Given the description of an element on the screen output the (x, y) to click on. 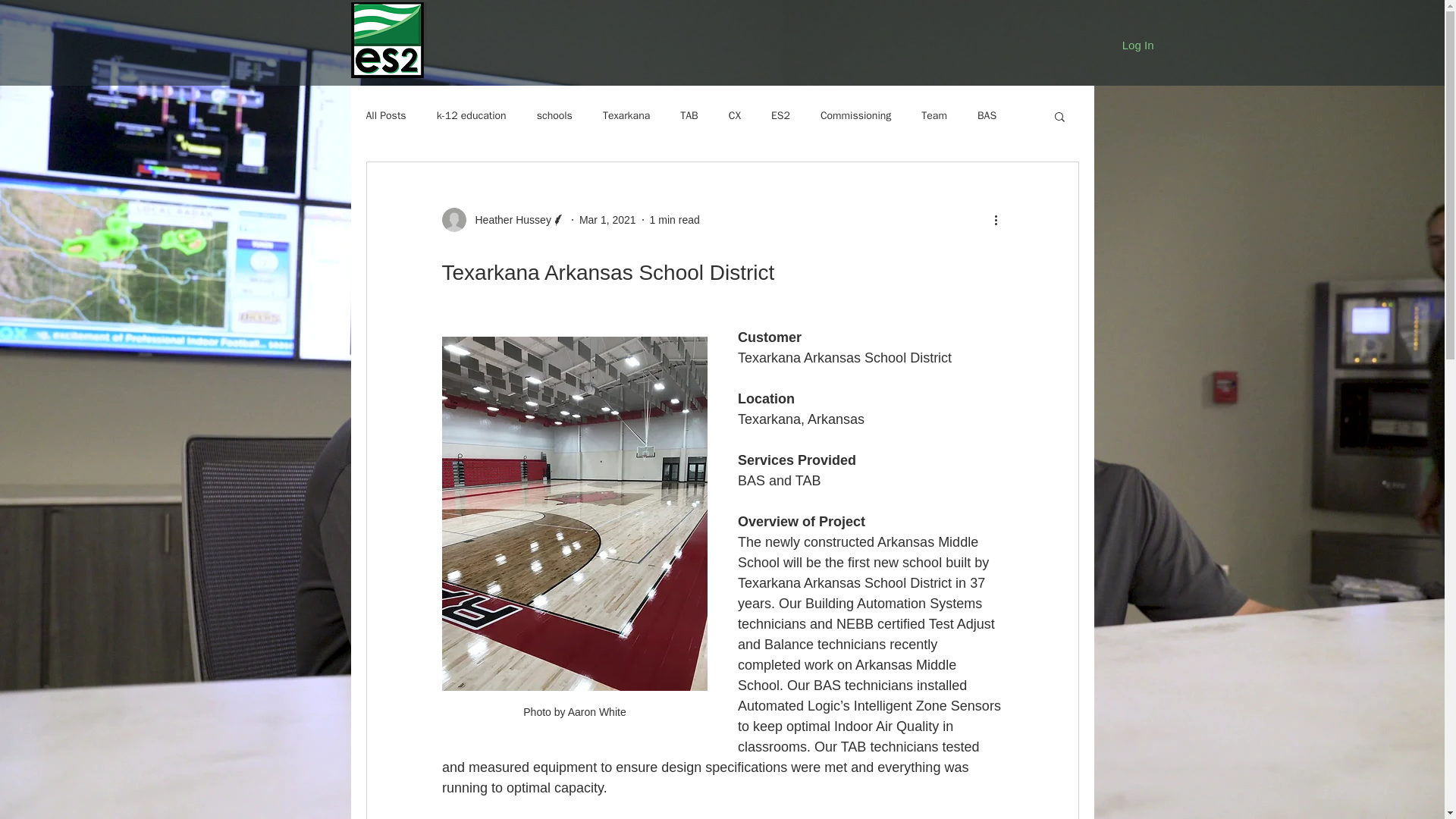
Mar 1, 2021 (607, 219)
Heather Hussey (507, 220)
1 min read (674, 219)
